Given the description of an element on the screen output the (x, y) to click on. 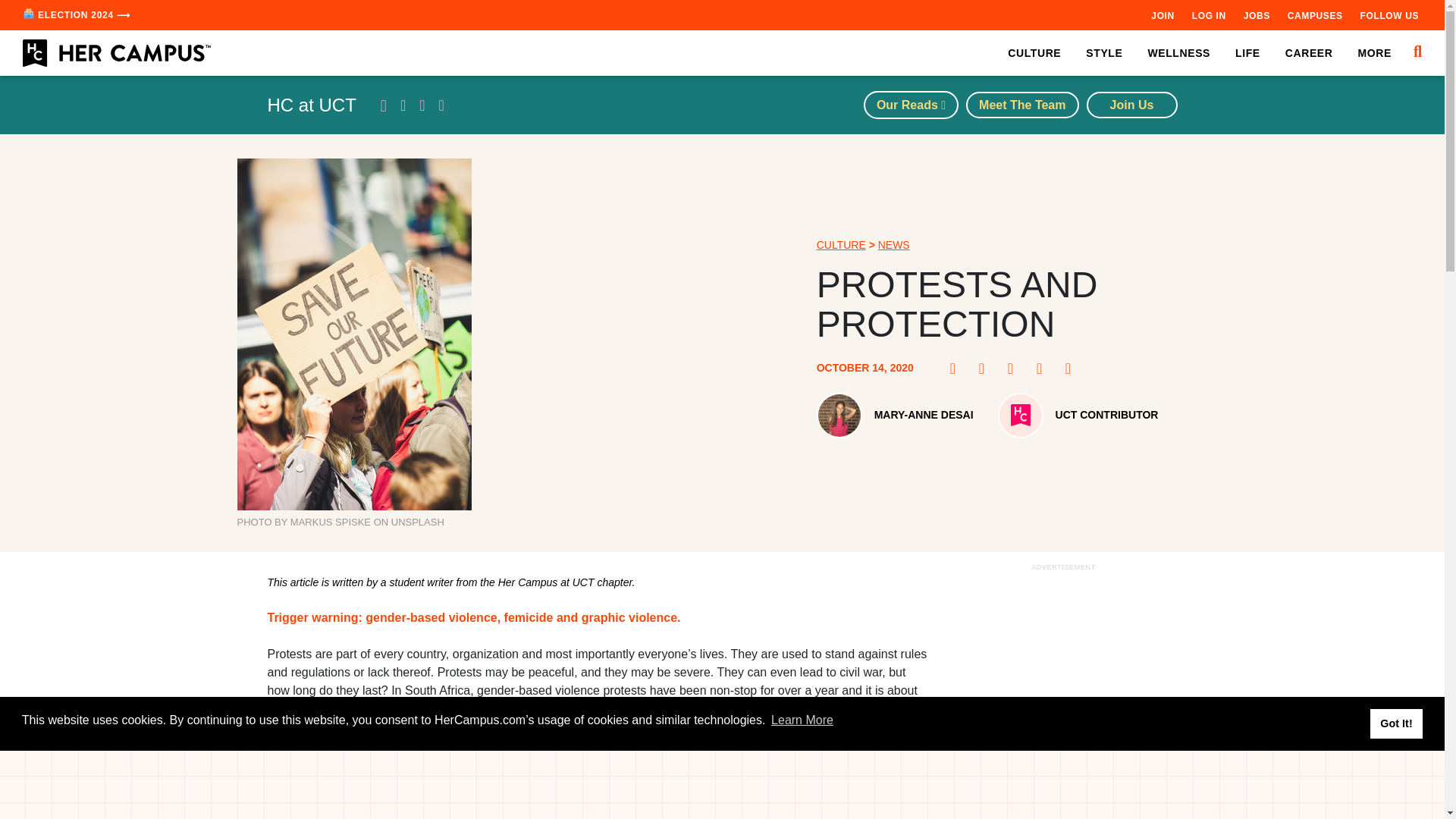
Twitter (1015, 368)
JOBS (1256, 15)
3rd party ad content (722, 785)
Email (1072, 368)
JOIN (1162, 15)
3rd party ad content (1062, 696)
LOG IN (1208, 15)
CAMPUSES (1314, 15)
Pinterest (986, 368)
LinkedIn (1043, 368)
Facebook (957, 368)
Got It! (1396, 723)
